Given the description of an element on the screen output the (x, y) to click on. 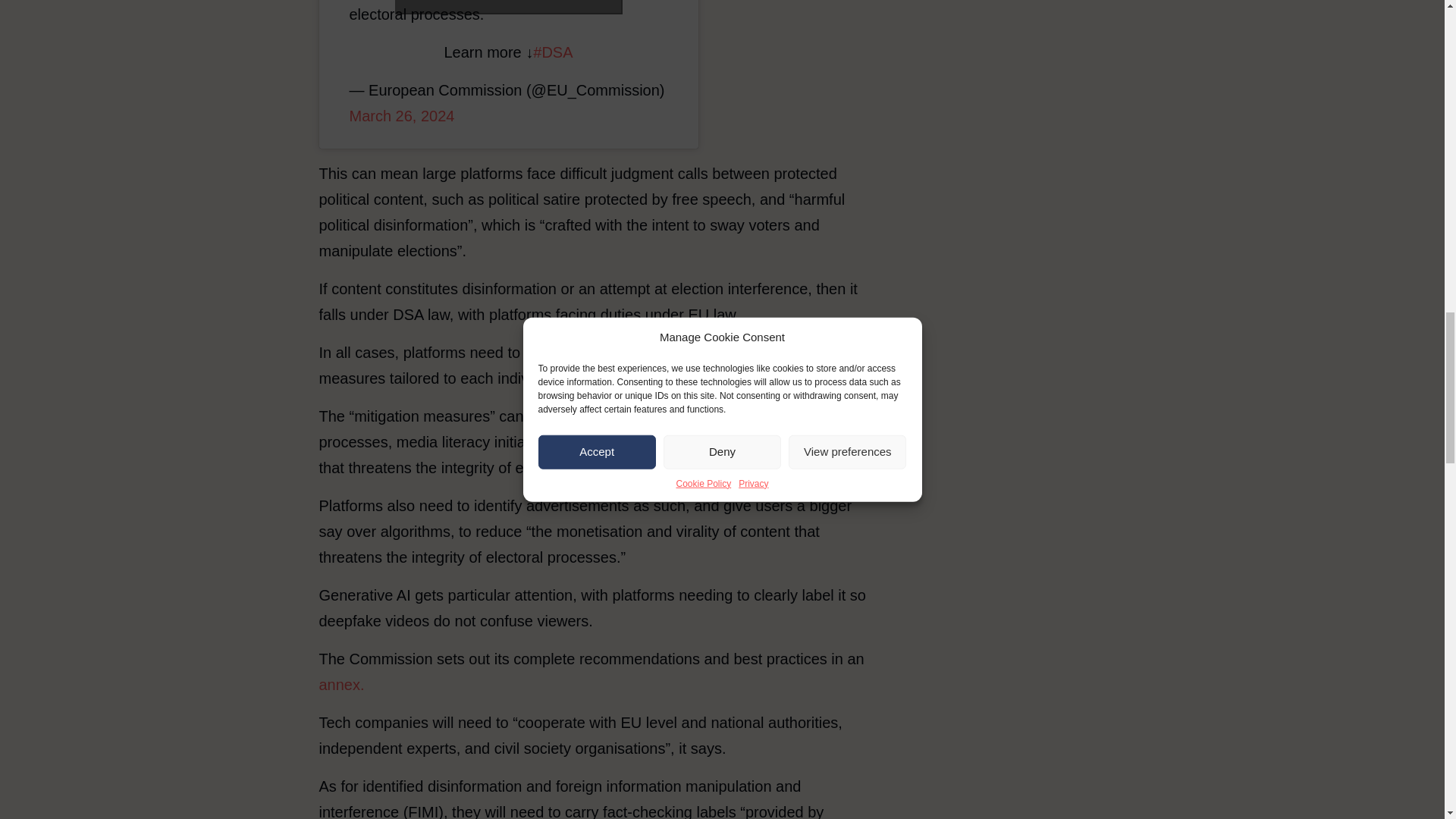
March 26, 2024 (401, 115)
Click to accept marketing cookies and enable this content (507, 7)
annex. (341, 684)
